Given the description of an element on the screen output the (x, y) to click on. 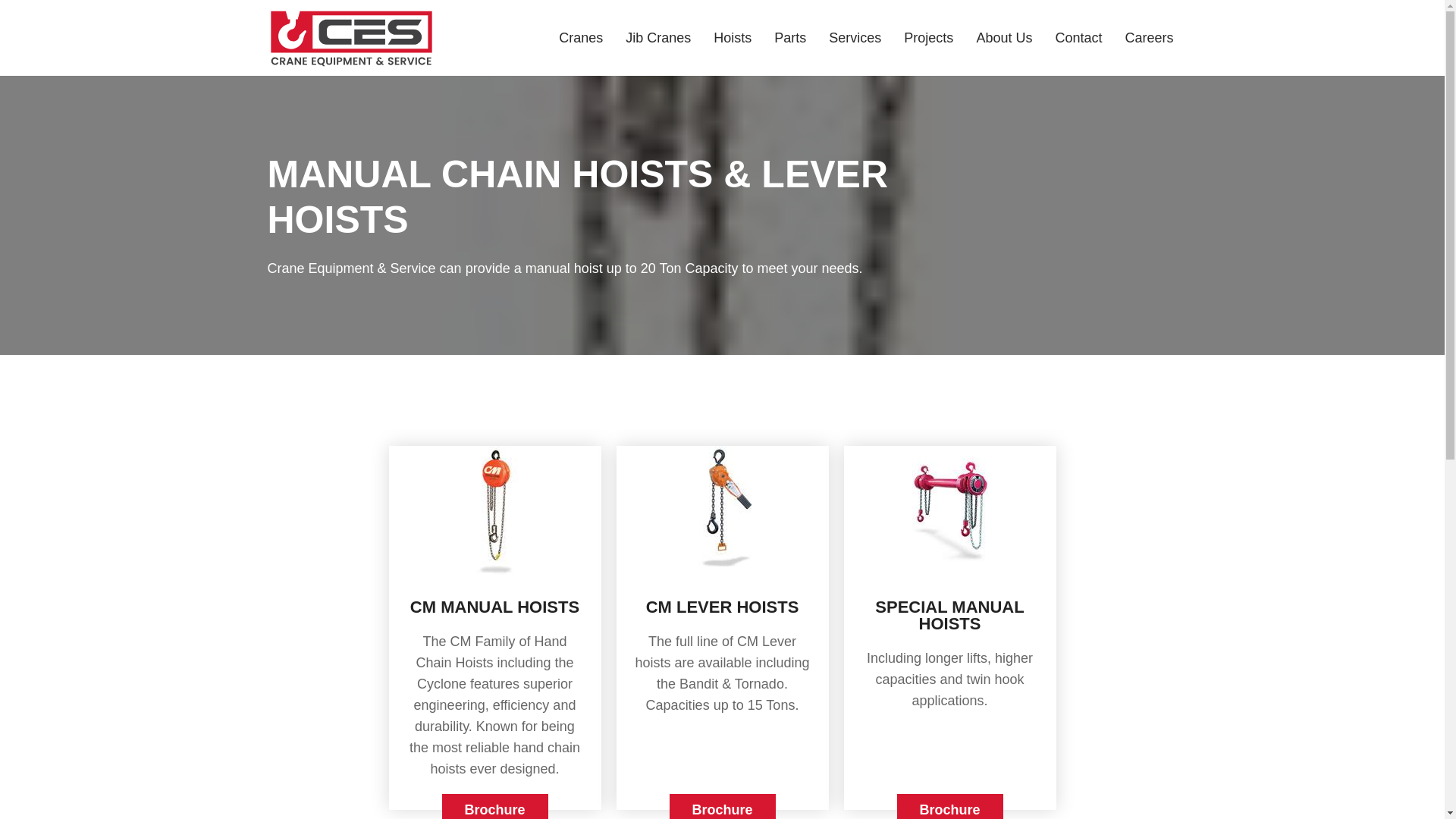
Projects (927, 38)
Hoists (732, 38)
CES Material Handling Logo (349, 37)
Brochure (949, 806)
Careers (1148, 38)
Brochure (721, 806)
Contact (1078, 38)
About Us (1003, 38)
Cranes (580, 38)
Brochure (494, 806)
Parts (789, 38)
Services (855, 38)
Jib Cranes (657, 38)
